Given the description of an element on the screen output the (x, y) to click on. 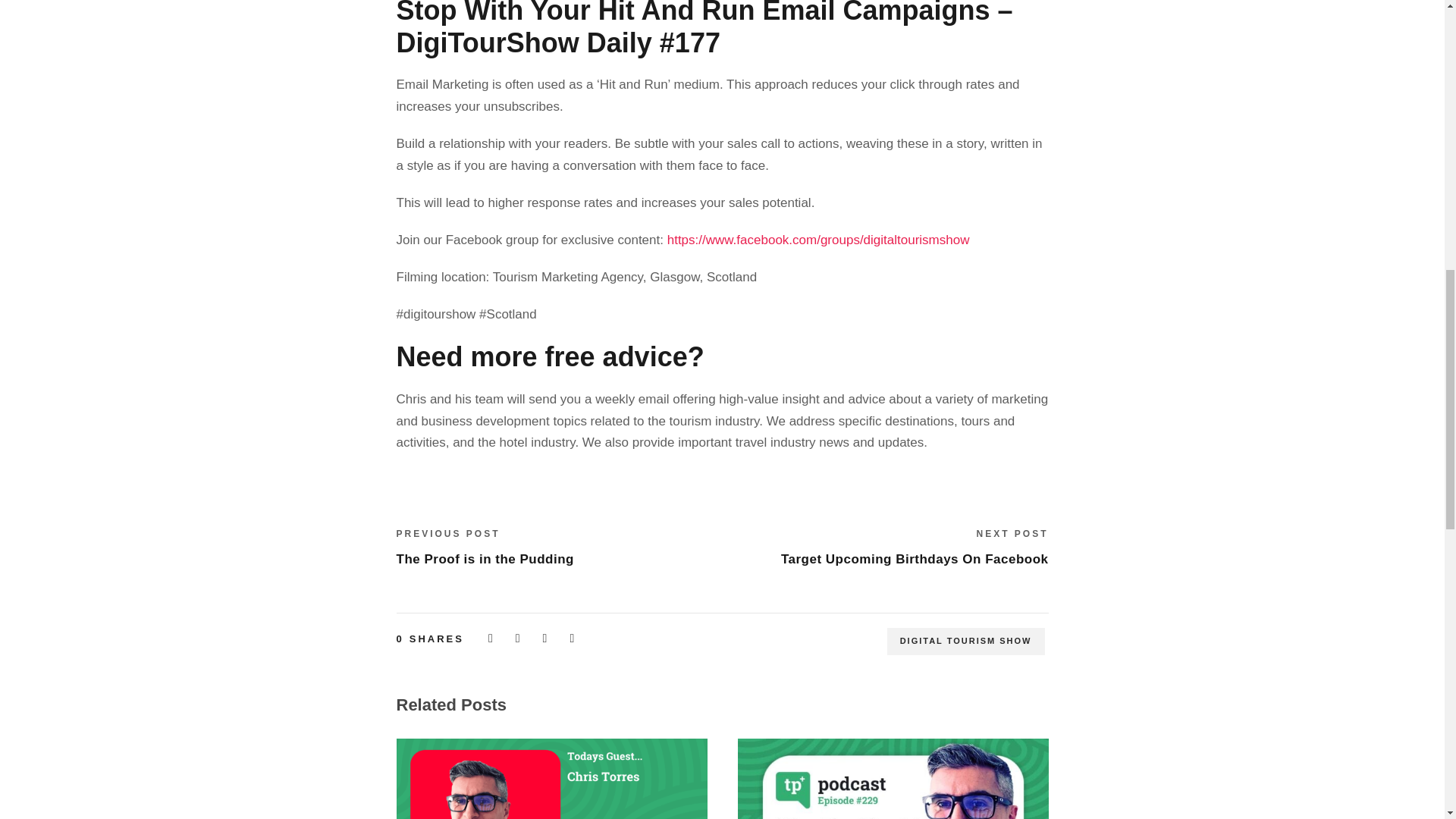
DIGITAL TOURISM SHOW (965, 642)
Why You Should Embrace AI, Not Be Frightened Of It (892, 778)
The Proof is in the Pudding (484, 559)
Target Upcoming Birthdays On Facebook (914, 559)
